Given the description of an element on the screen output the (x, y) to click on. 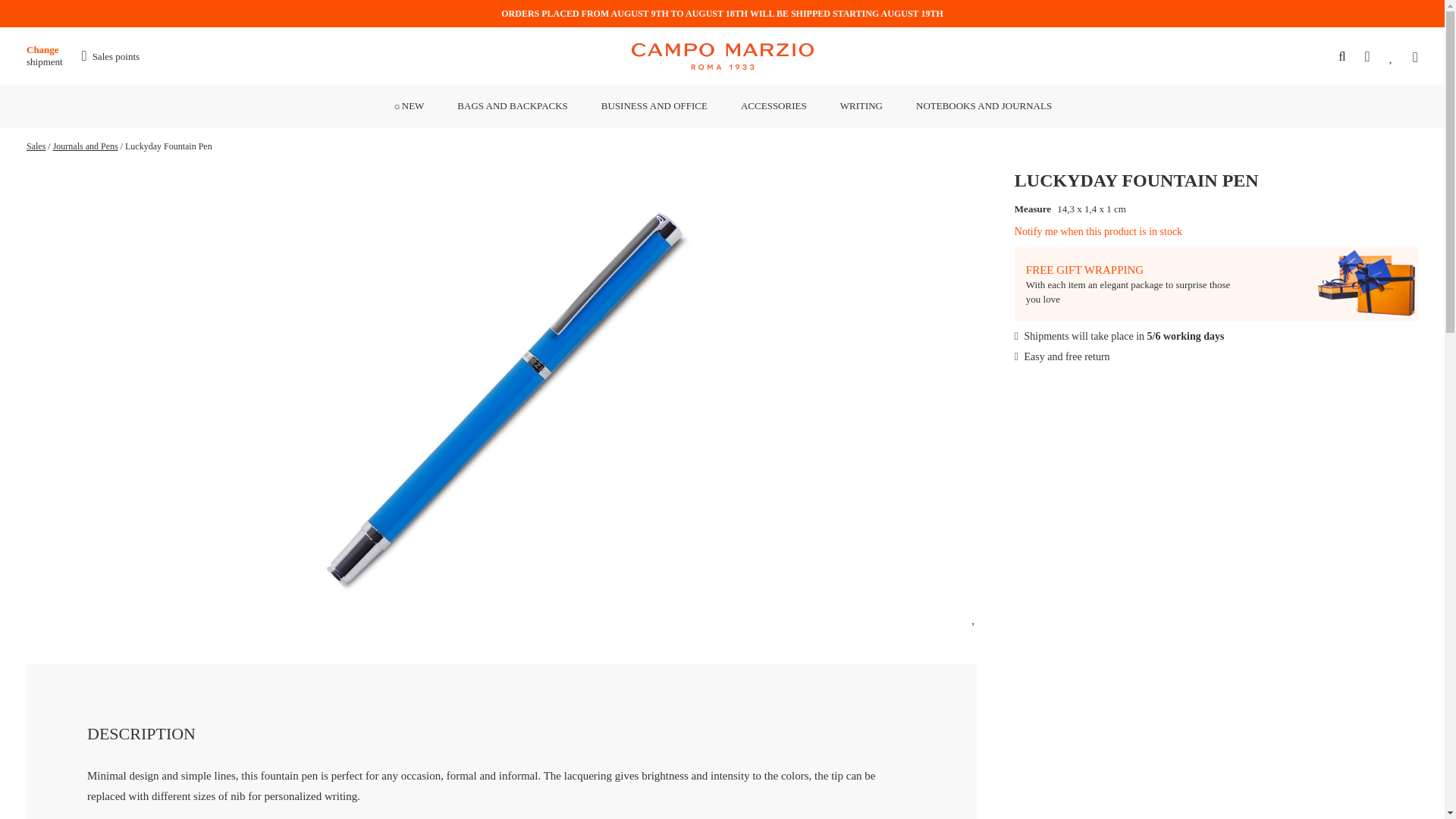
Notify me when this product is in stock (1098, 231)
BUSINESS AND OFFICE (654, 105)
Sales points (110, 55)
BAGS AND BACKPACKS (53, 55)
Campo Marzio (512, 105)
